Given the description of an element on the screen output the (x, y) to click on. 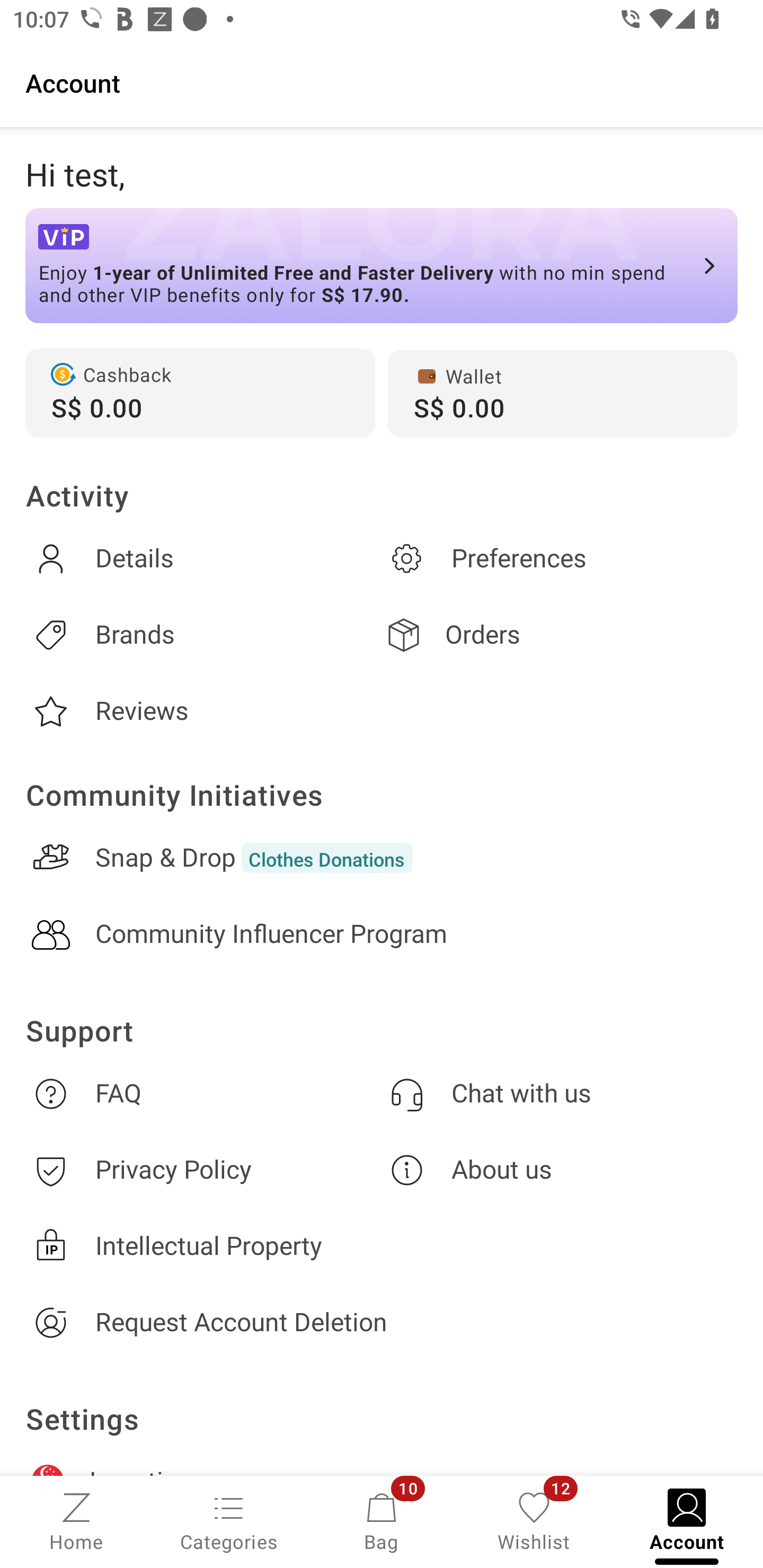
Account (381, 82)
Details (203, 558)
Preferences (559, 558)
Brands (203, 634)
Orders (559, 634)
Reviews (203, 710)
Snap & DropClothes Donations (381, 858)
Community Influencer Program (381, 934)
FAQ (203, 1093)
Chat with us (559, 1093)
Privacy Policy (203, 1170)
About us (559, 1170)
Intellectual Property (381, 1246)
Request Account Deletion (381, 1322)
Home (76, 1519)
Categories (228, 1519)
Bag, 10 new notifications Bag (381, 1519)
Wishlist, 12 new notifications Wishlist (533, 1519)
